Given the description of an element on the screen output the (x, y) to click on. 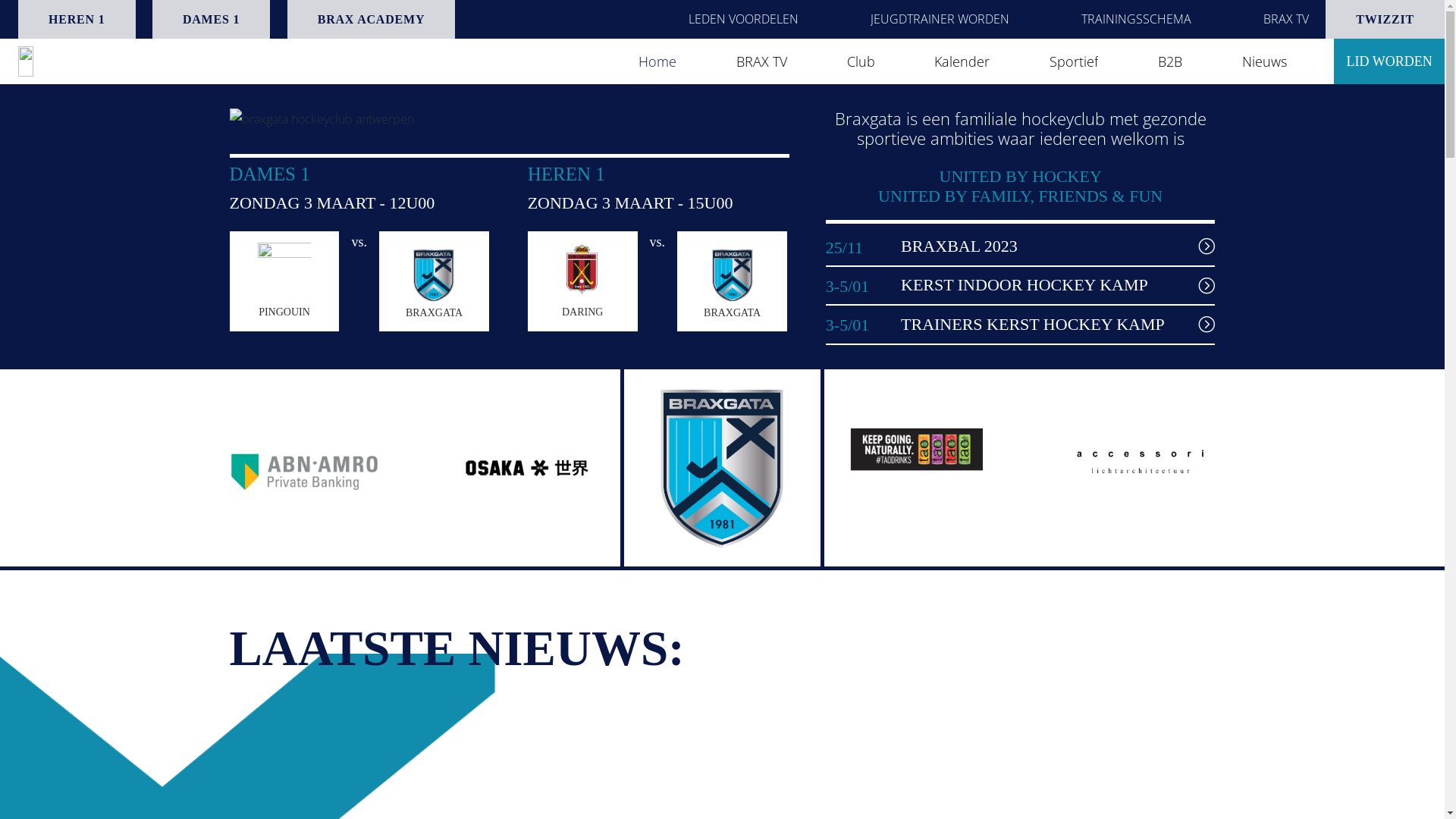
TRAININGSSCHEMA Element type: text (1136, 19)
Sportief Element type: text (1073, 61)
BRAX ACADEMY Element type: text (371, 19)
LID WORDEN Element type: text (1388, 61)
BRAX TV Element type: text (761, 61)
DAMES 1 Element type: text (210, 19)
TWIZZIT Element type: text (1384, 19)
B2B Element type: text (1169, 61)
Home Element type: text (657, 61)
BRAX TV Element type: text (1285, 19)
JEUGDTRAINER WORDEN Element type: text (939, 19)
Nieuws Element type: text (1264, 61)
HEREN 1 Element type: text (76, 19)
LEDEN VOORDELEN Element type: text (743, 19)
Kalender Element type: text (961, 61)
Club Element type: text (861, 61)
